Given the description of an element on the screen output the (x, y) to click on. 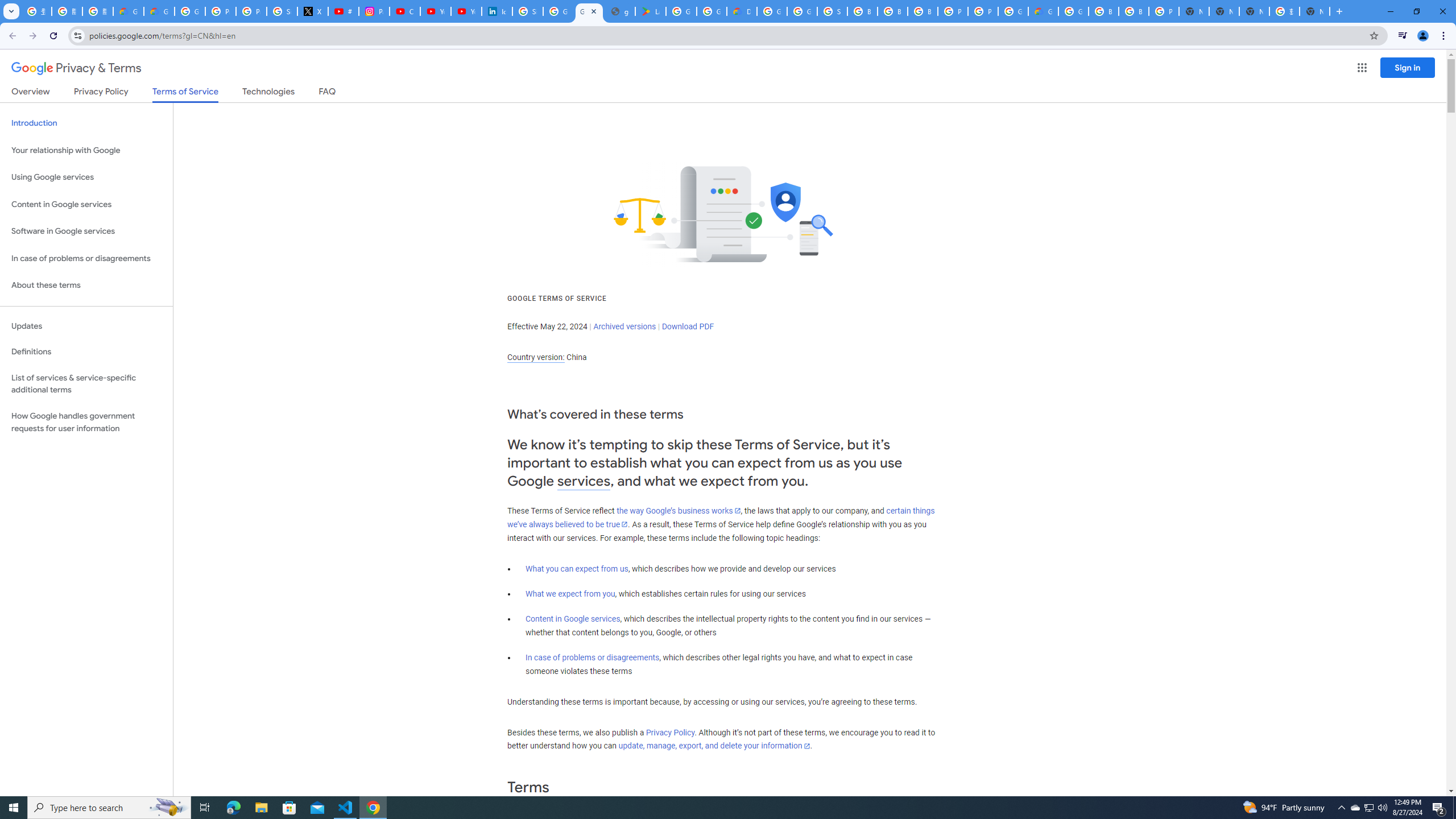
Bookmark this tab (1373, 35)
#nbabasketballhighlights - YouTube (343, 11)
Google apps (1362, 67)
Overview (30, 93)
Forward (32, 35)
In case of problems or disagreements (592, 657)
Updates (86, 325)
Last Shelter: Survival - Apps on Google Play (650, 11)
